Given the description of an element on the screen output the (x, y) to click on. 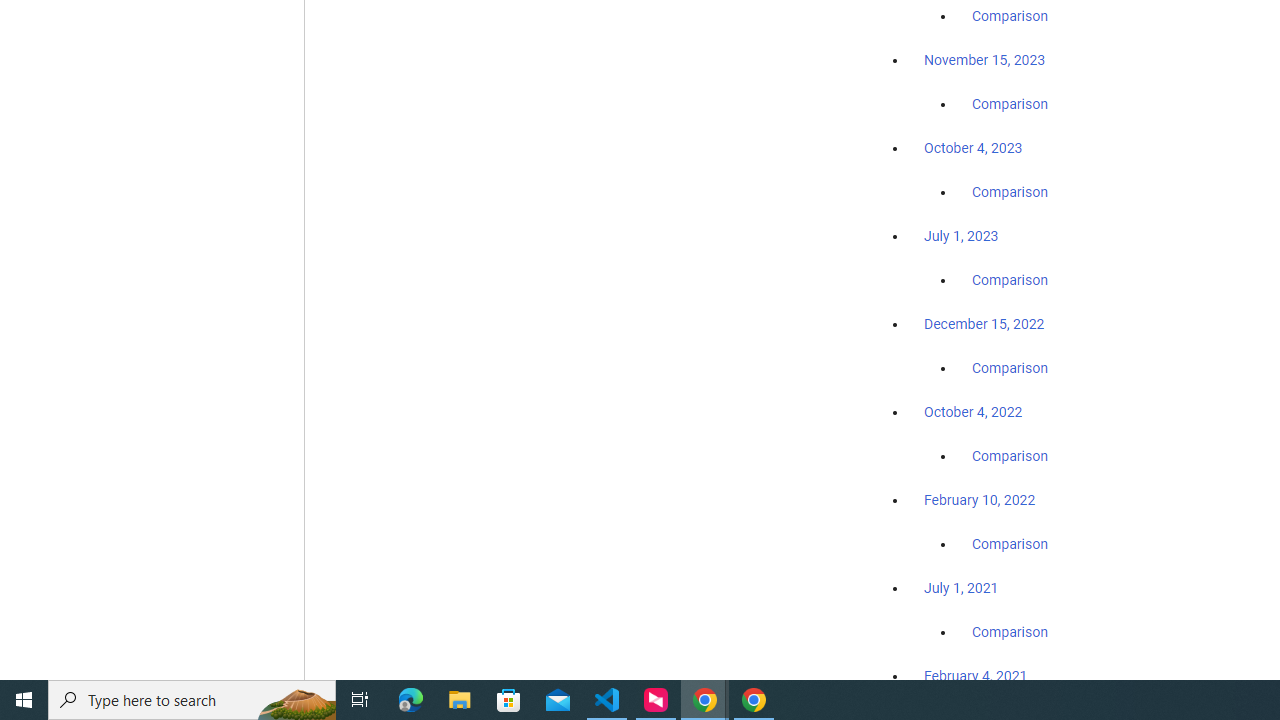
July 1, 2023 (961, 236)
December 15, 2022 (984, 323)
July 1, 2021 (961, 587)
Comparison (1009, 631)
October 4, 2022 (973, 412)
October 4, 2023 (973, 148)
February 10, 2022 (979, 500)
February 4, 2021 (975, 675)
November 15, 2023 (984, 60)
